Given the description of an element on the screen output the (x, y) to click on. 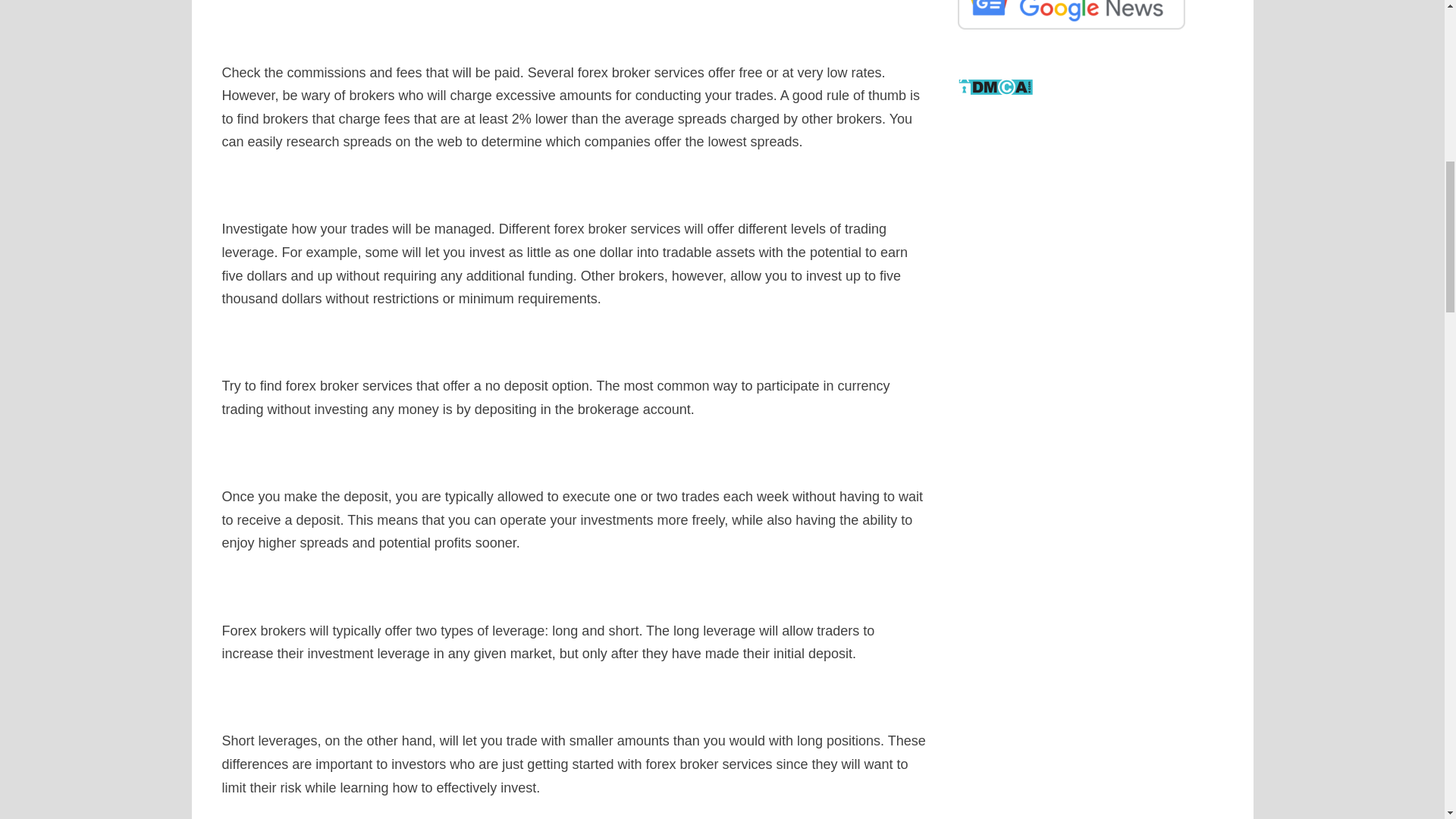
DMCA.com Protection Status (995, 84)
